Given the description of an element on the screen output the (x, y) to click on. 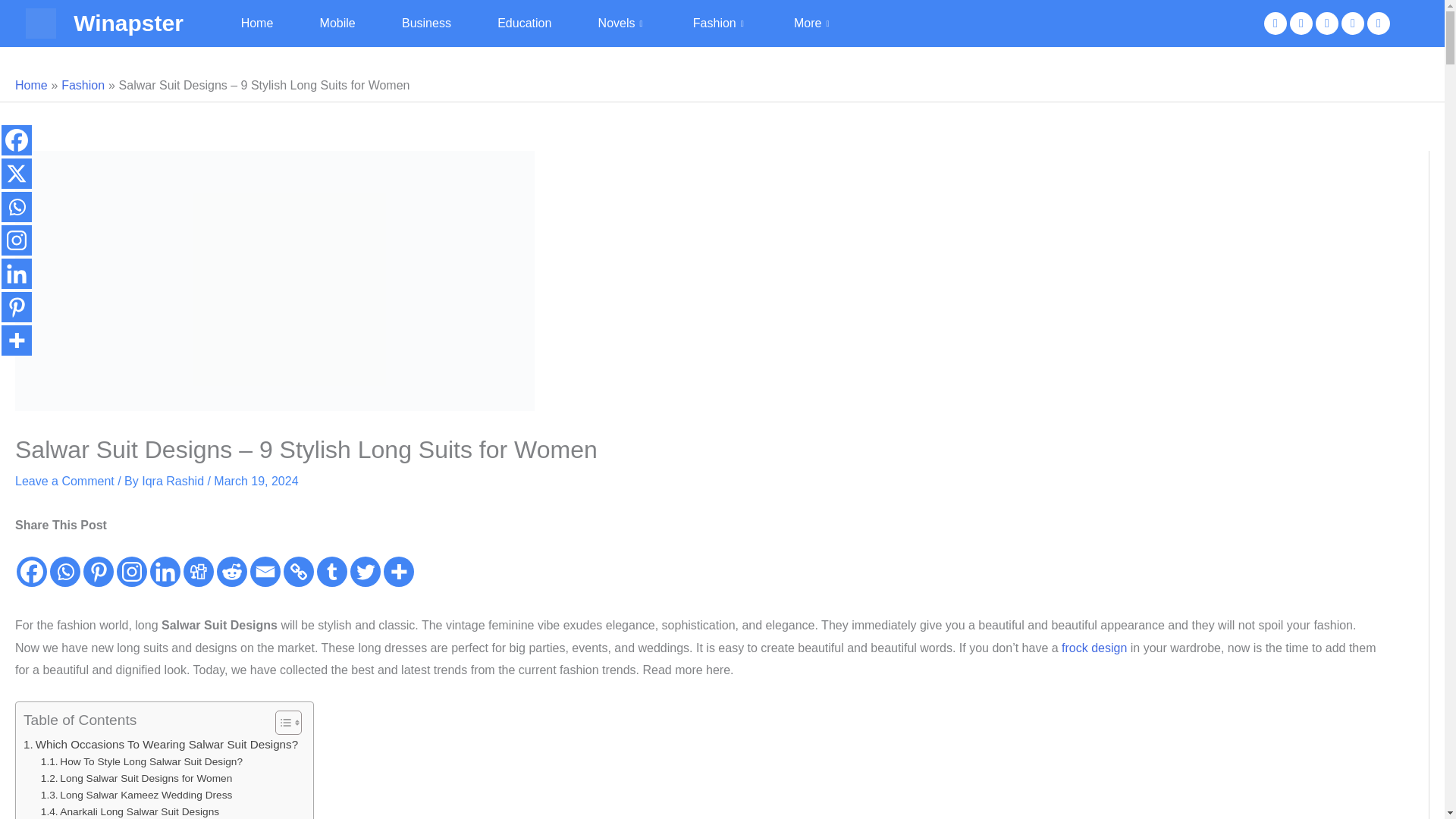
Education (523, 23)
Winapster Logo (41, 23)
Mobile (337, 23)
Fashion (719, 23)
View all posts by Iqra Rashid (173, 481)
More (812, 23)
Novels (622, 23)
Home (257, 23)
Winapster (128, 23)
Business (425, 23)
